Given the description of an element on the screen output the (x, y) to click on. 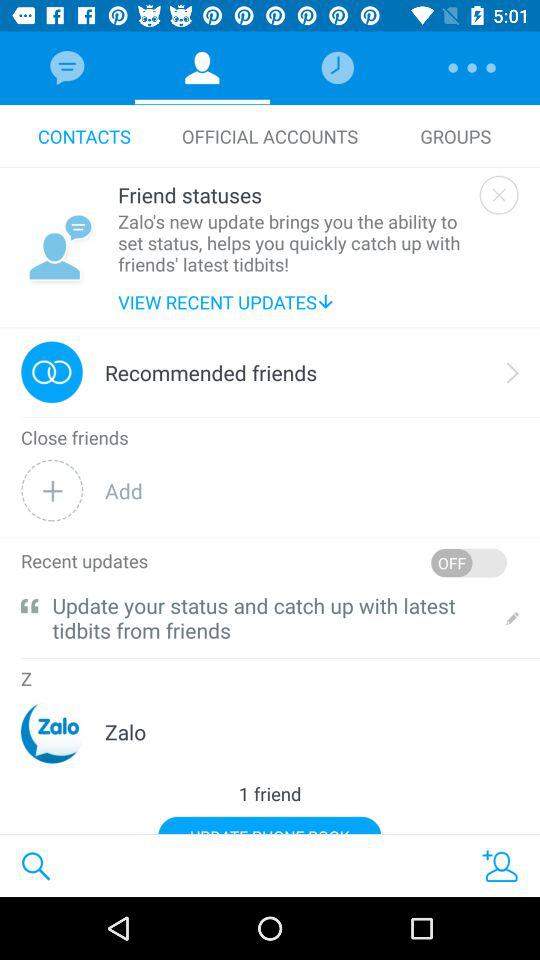
scroll to the add item (312, 490)
